Given the description of an element on the screen output the (x, y) to click on. 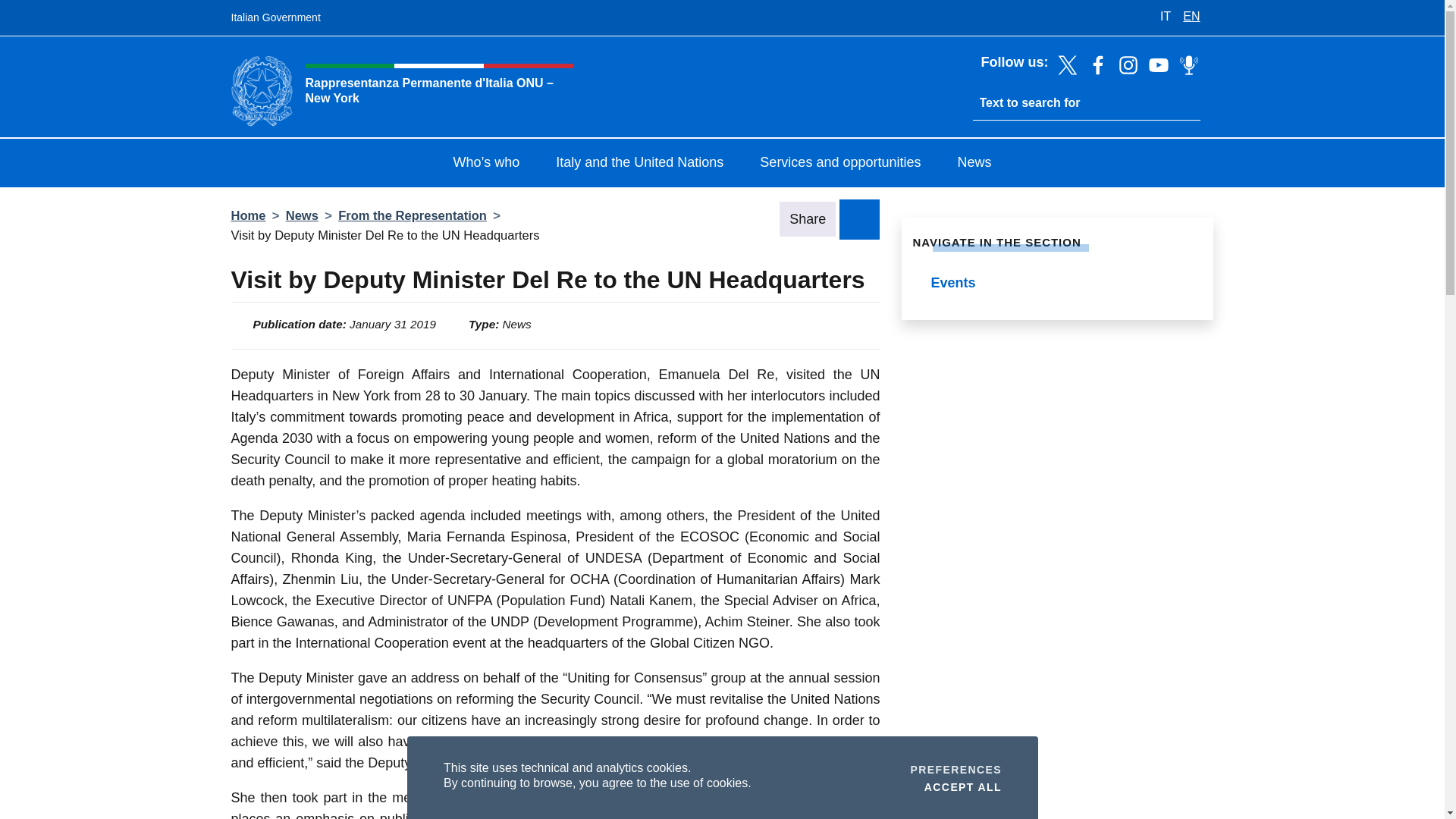
Events (1057, 282)
Italian Government (275, 18)
Events (1057, 282)
From the Representation (411, 215)
Share on Social Network (859, 218)
News (974, 163)
Services and opportunities (840, 163)
Italy and the United Nations (962, 786)
Home (639, 163)
News (955, 769)
Share on Social Network (247, 215)
